Given the description of an element on the screen output the (x, y) to click on. 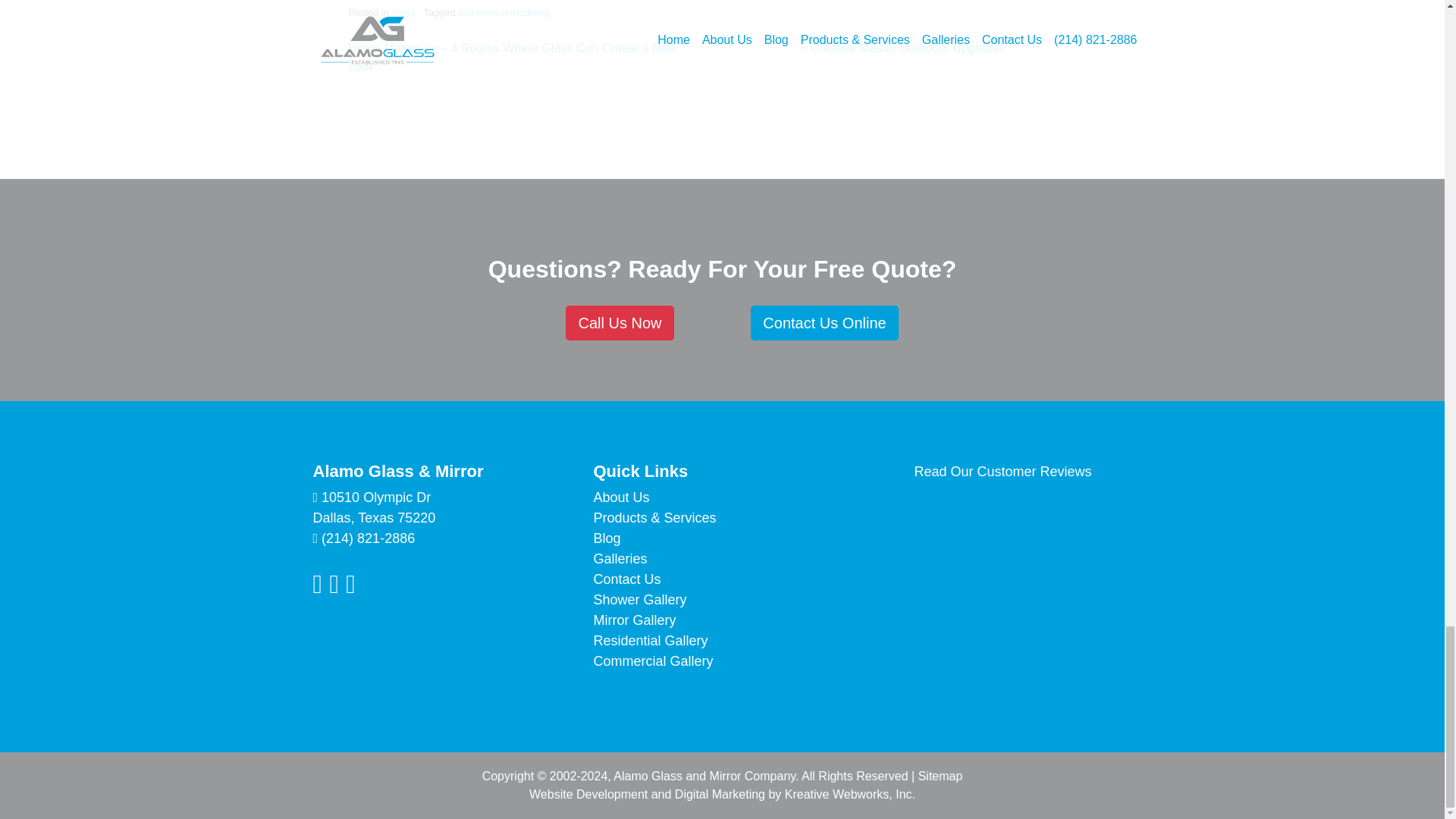
5 Creative Master Bedroom Upgrades (902, 47)
News (402, 12)
bathroom remodeling (504, 12)
